Given the description of an element on the screen output the (x, y) to click on. 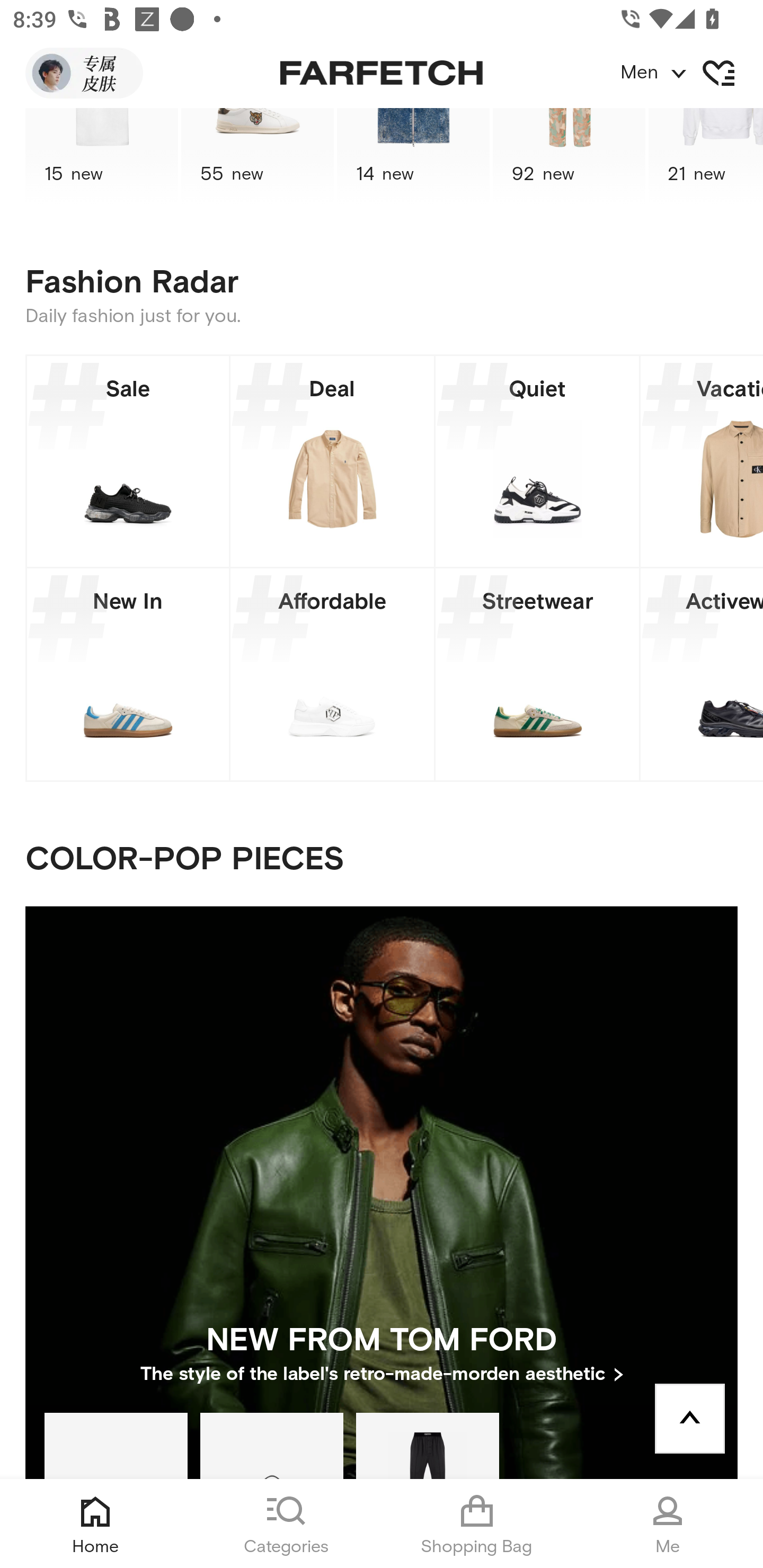
Men (691, 72)
15  new (101, 156)
55  new (257, 156)
14  new (413, 156)
92  new (568, 156)
21  new (705, 156)
Sale (127, 460)
Deal (332, 460)
Quiet (537, 460)
Vacation (701, 460)
New In (127, 673)
Affordable (332, 673)
Streetwear (537, 673)
Activewear (701, 673)
TOM FORD (427, 1445)
Categories (285, 1523)
Shopping Bag (476, 1523)
Me (667, 1523)
